Given the description of an element on the screen output the (x, y) to click on. 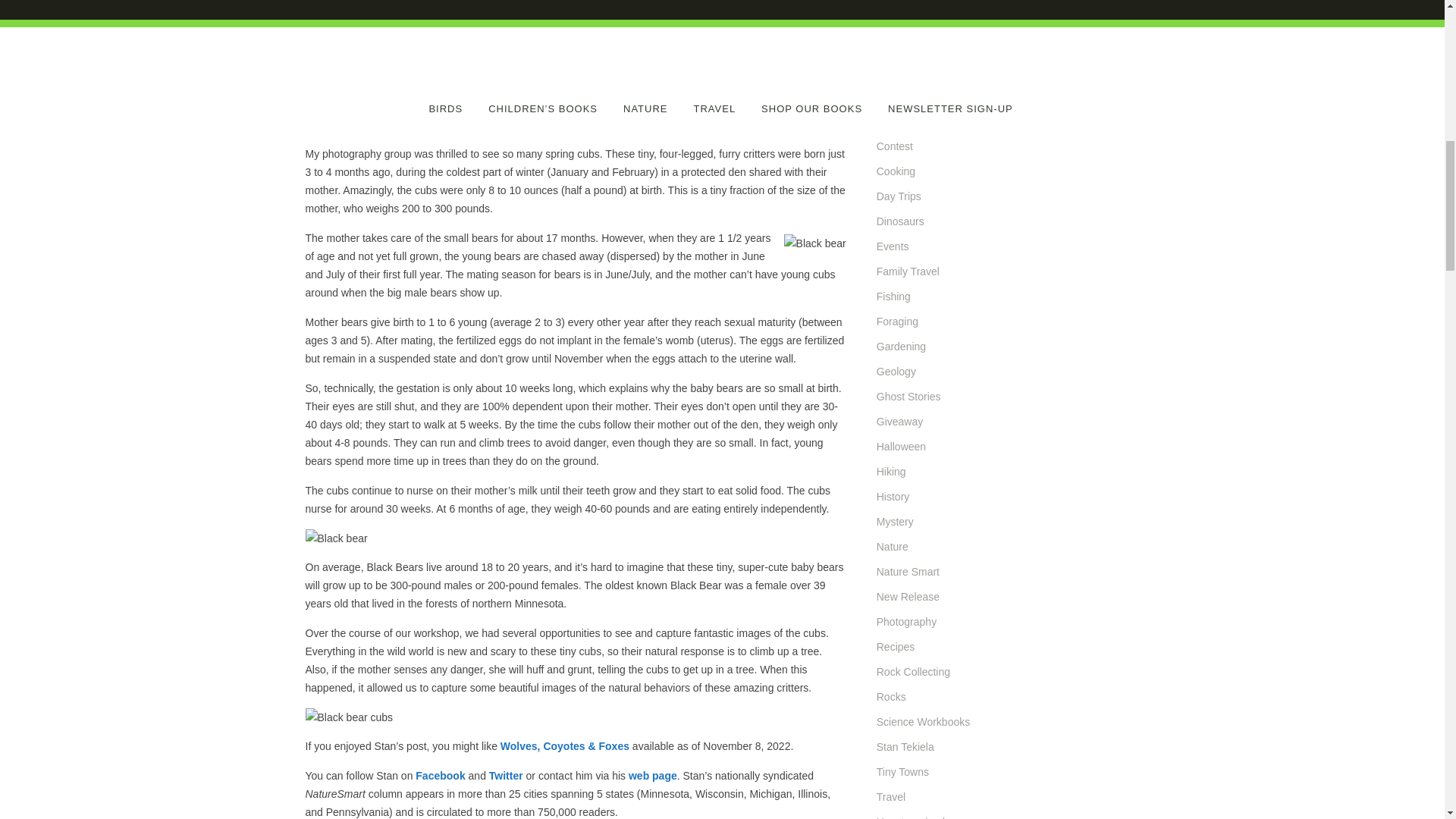
Twitter (505, 775)
web page (652, 775)
Facebook (439, 775)
